Given the description of an element on the screen output the (x, y) to click on. 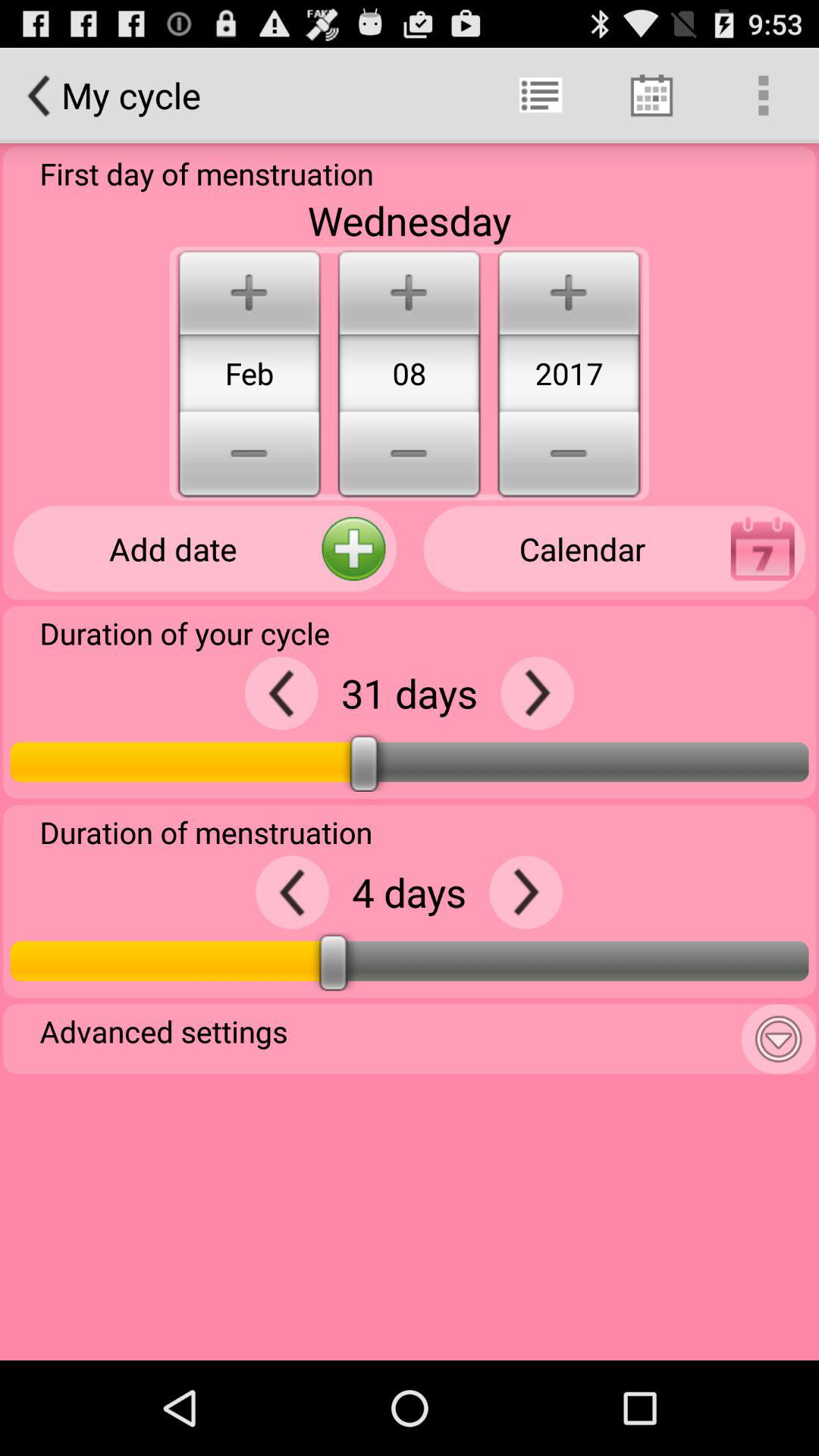
increase number of menstruation days (525, 892)
